Given the description of an element on the screen output the (x, y) to click on. 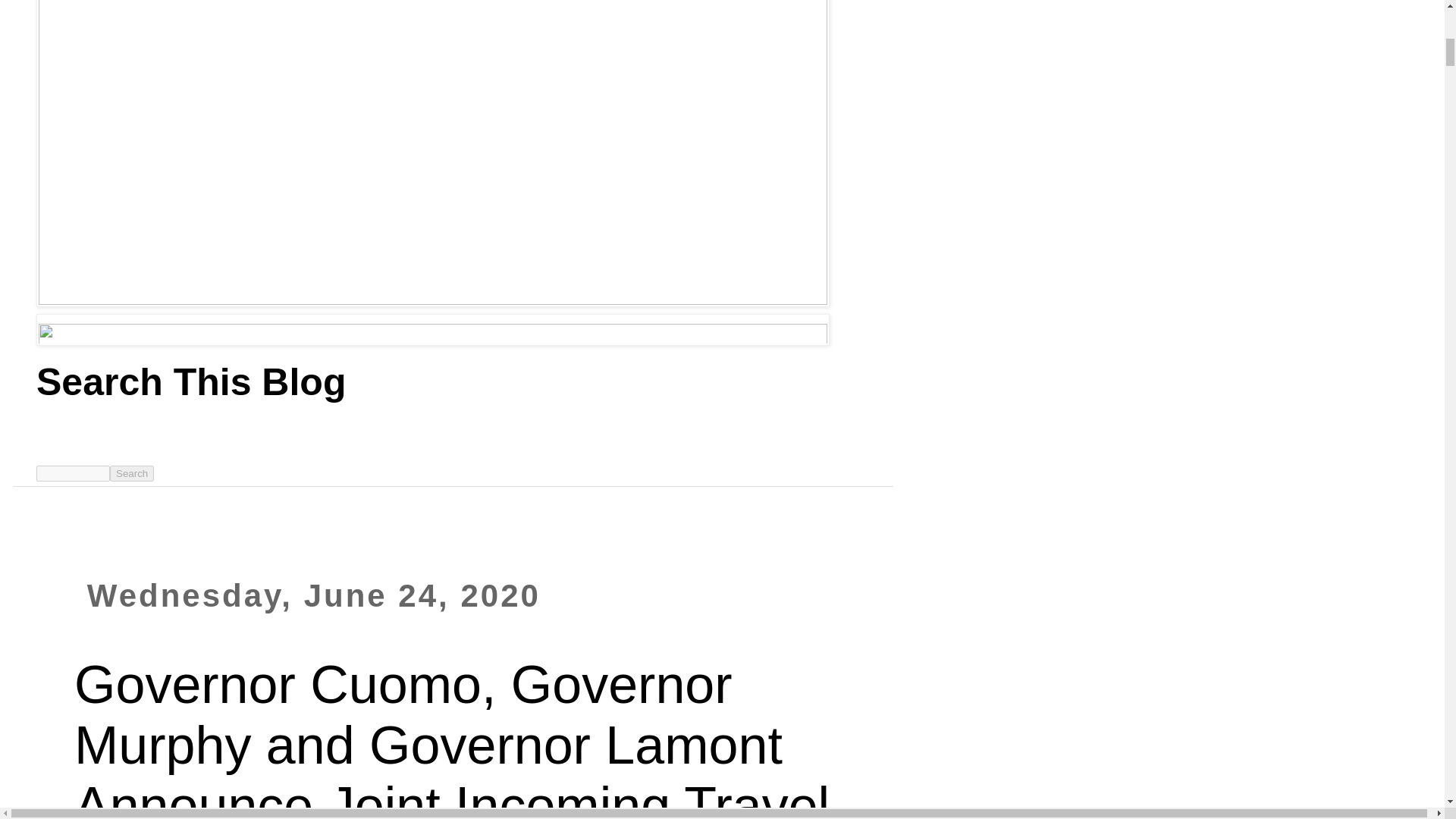
search (132, 473)
Search (132, 473)
Search (132, 473)
Search (132, 473)
search (73, 473)
